Given the description of an element on the screen output the (x, y) to click on. 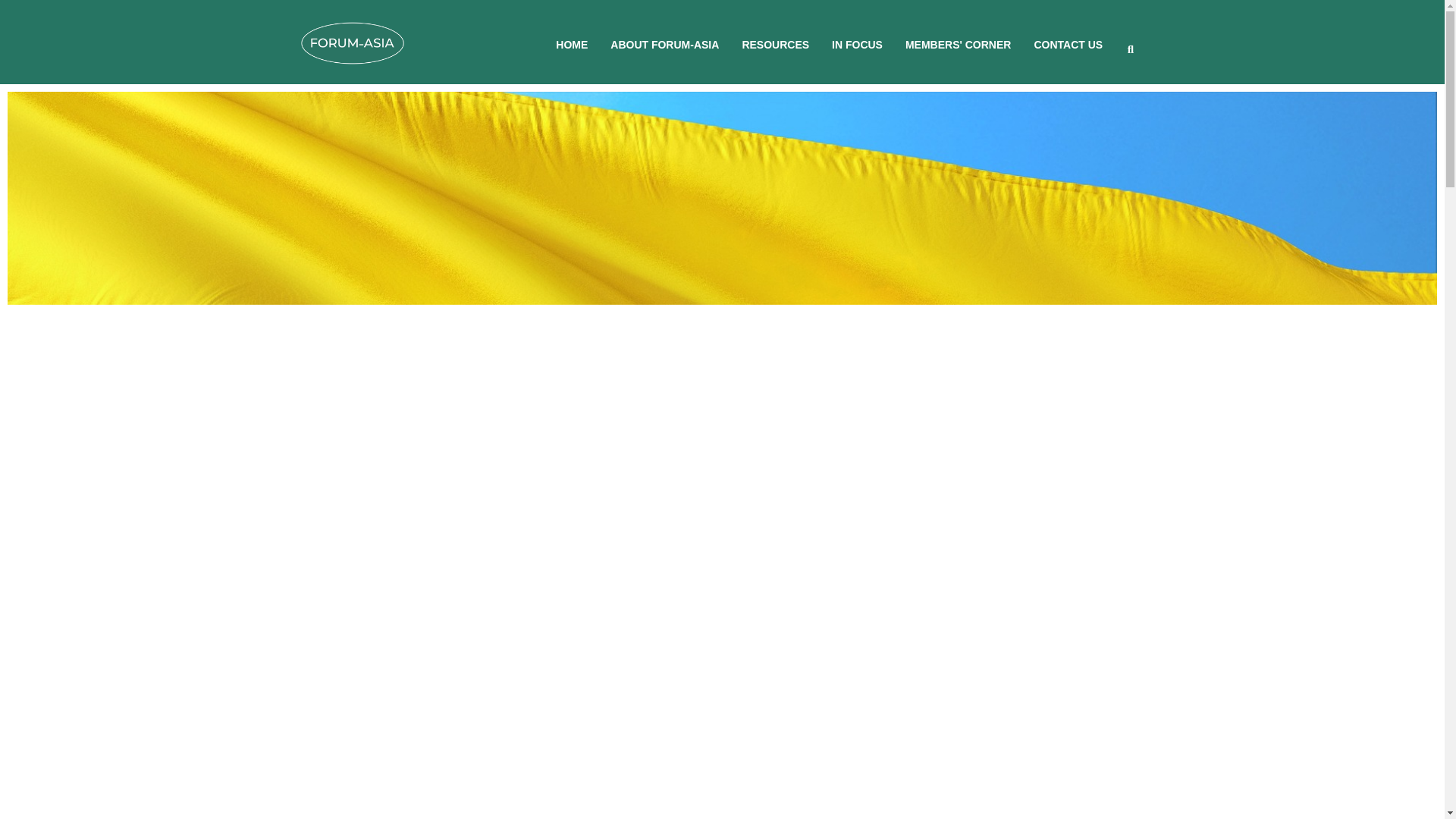
MEMBERS' CORNER (957, 44)
RESOURCES (774, 44)
CONTACT US (1067, 44)
HOME (571, 44)
IN FOCUS (856, 44)
ABOUT FORUM-ASIA (664, 44)
